Given the description of an element on the screen output the (x, y) to click on. 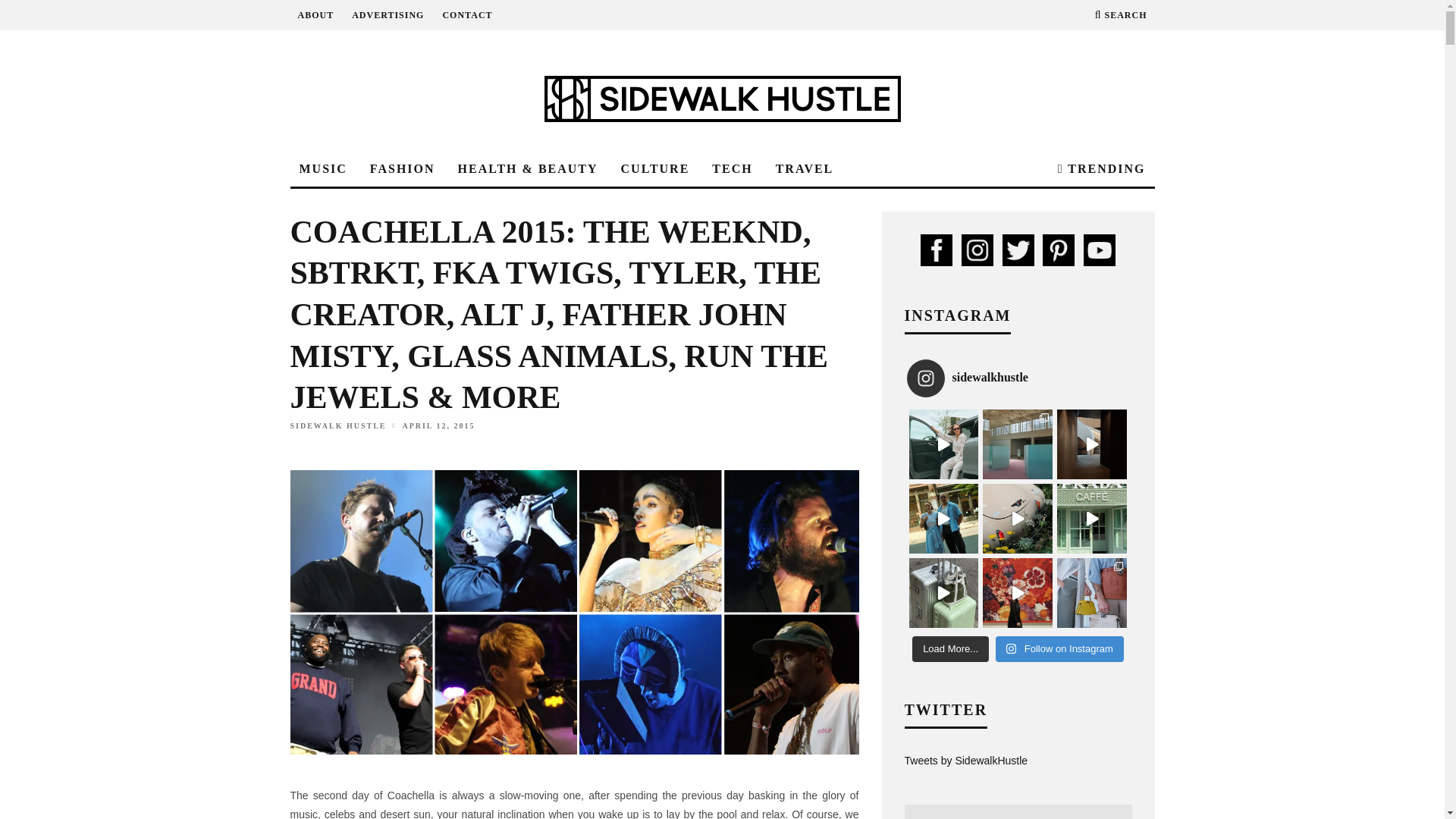
CONTACT (467, 15)
Log In (722, 408)
MUSIC (322, 169)
ADVERTISING (387, 15)
ABOUT (315, 15)
Search (1120, 15)
FASHION (402, 169)
SEARCH (1120, 15)
